Given the description of an element on the screen output the (x, y) to click on. 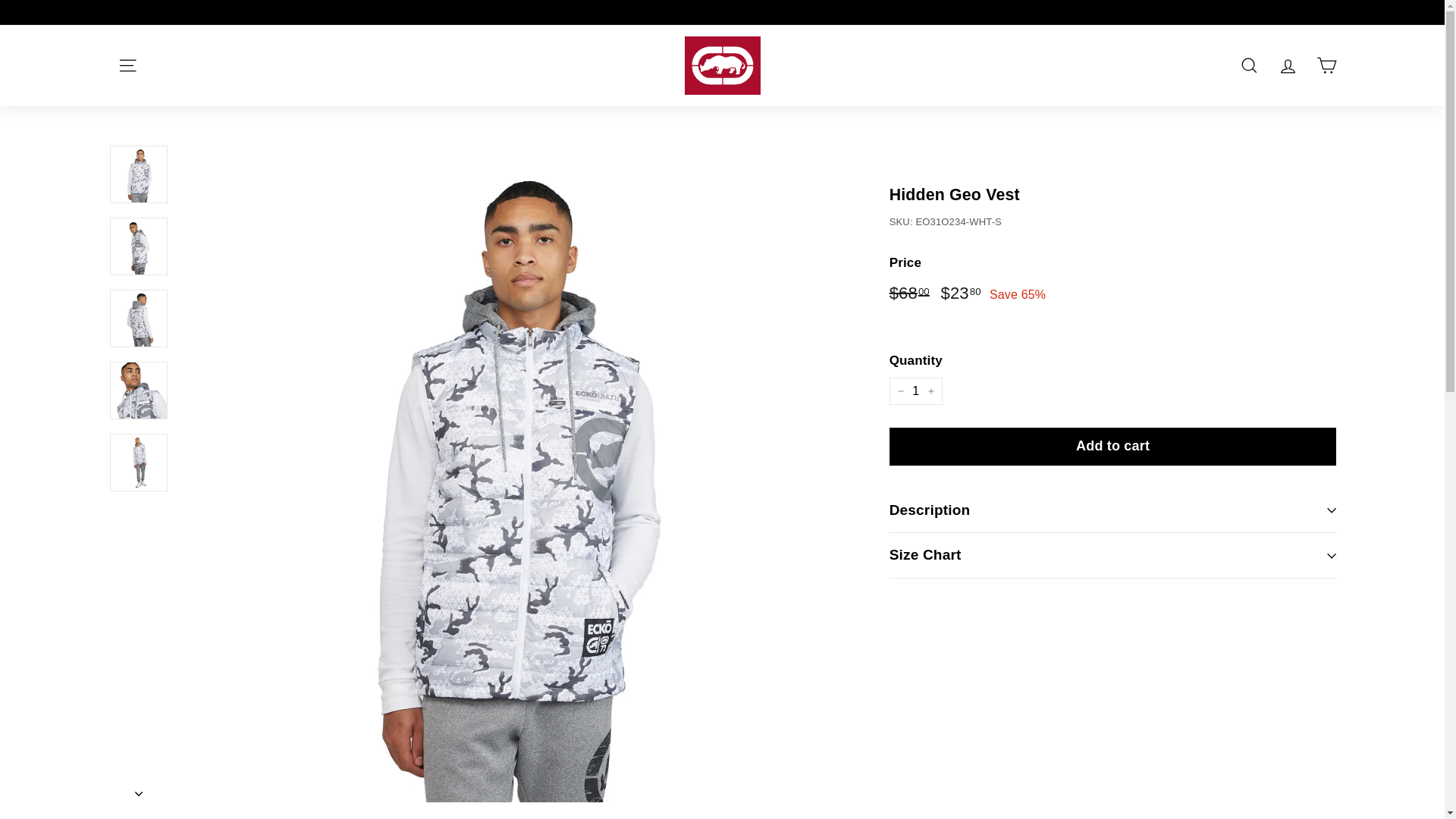
... (126, 65)
1 (915, 390)
